Given the description of an element on the screen output the (x, y) to click on. 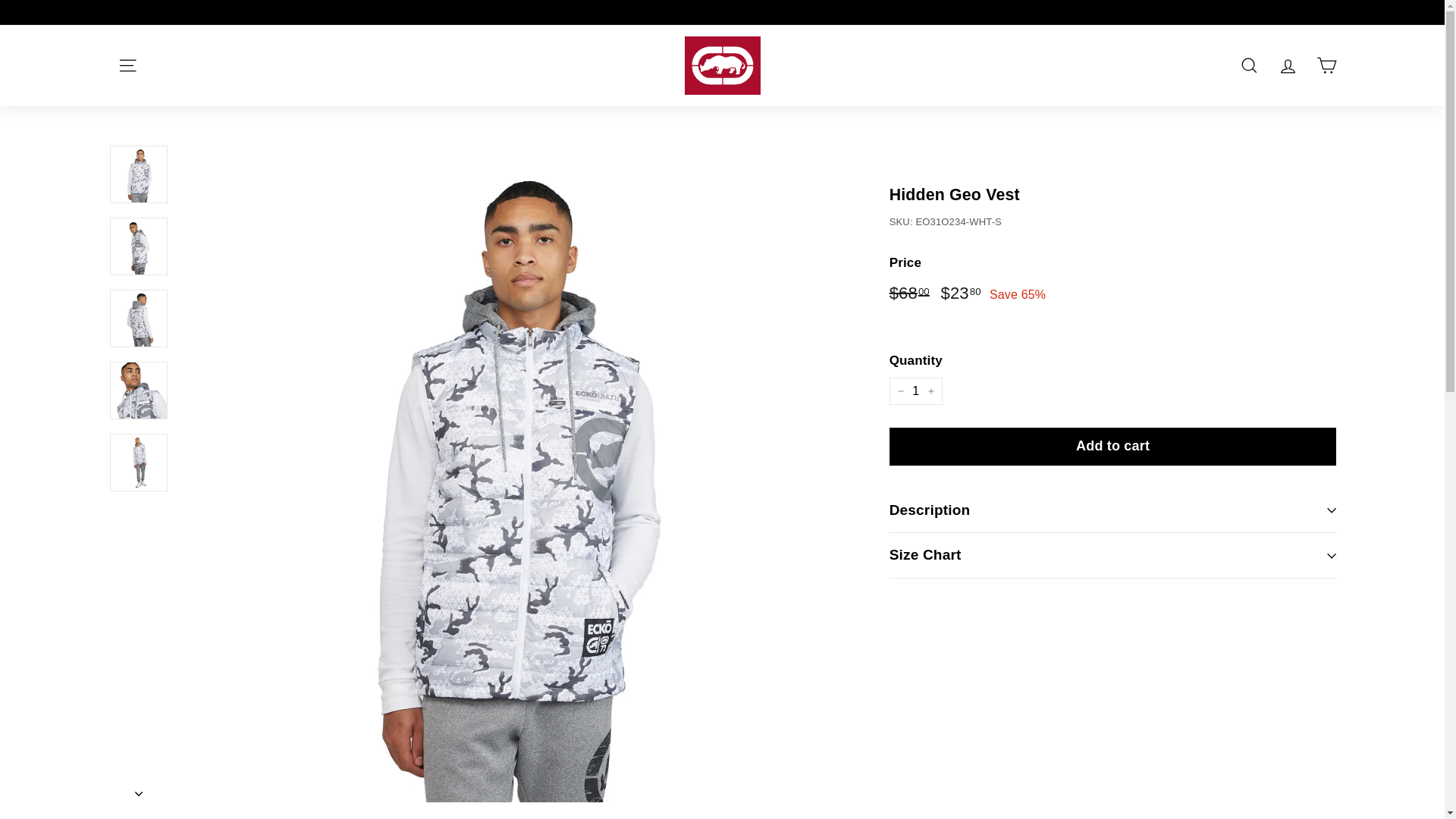
... (126, 65)
1 (915, 390)
